Given the description of an element on the screen output the (x, y) to click on. 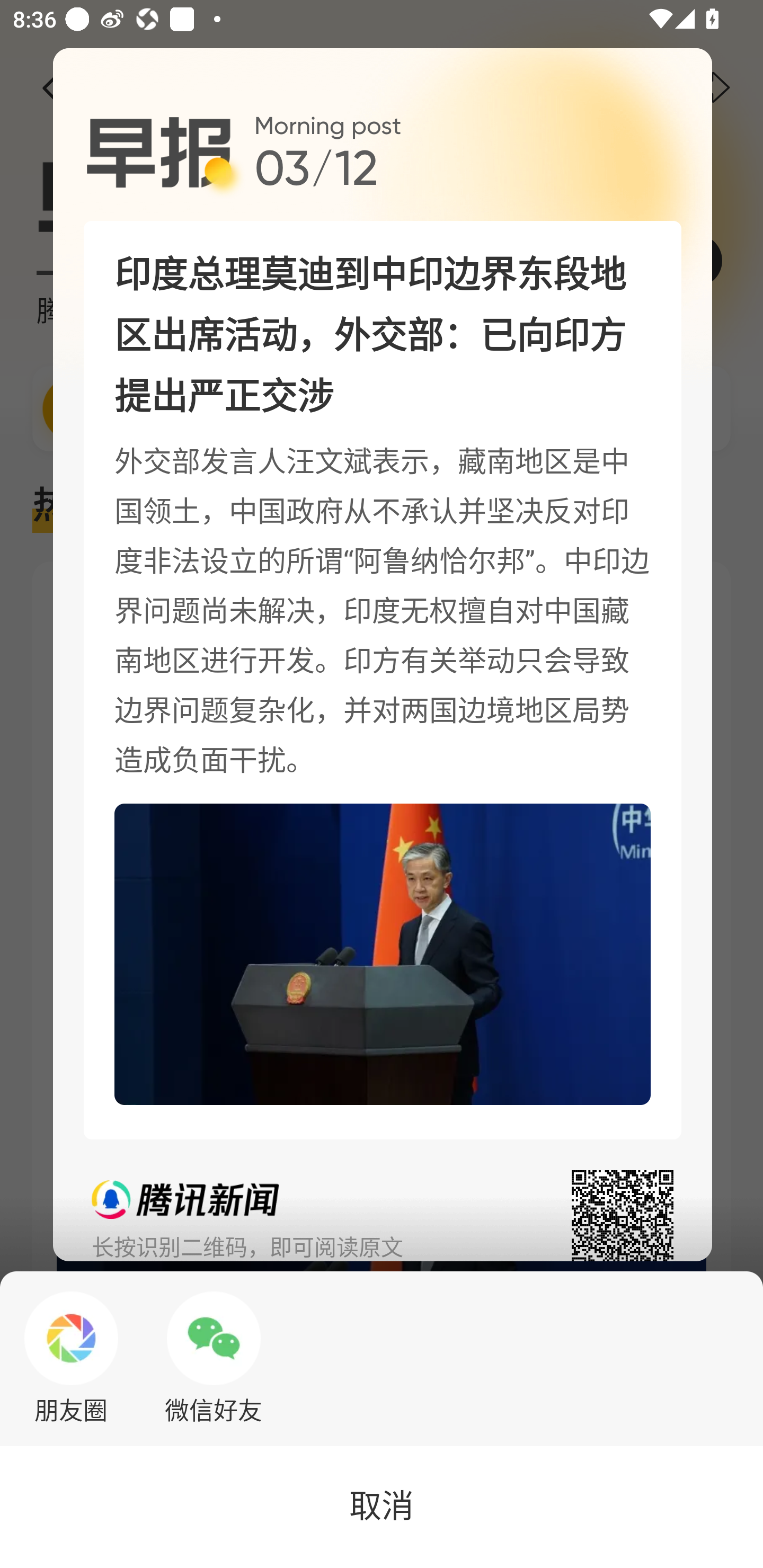
朋友圈 (71, 1358)
微信好友 (213, 1358)
取消 (381, 1506)
